Given the description of an element on the screen output the (x, y) to click on. 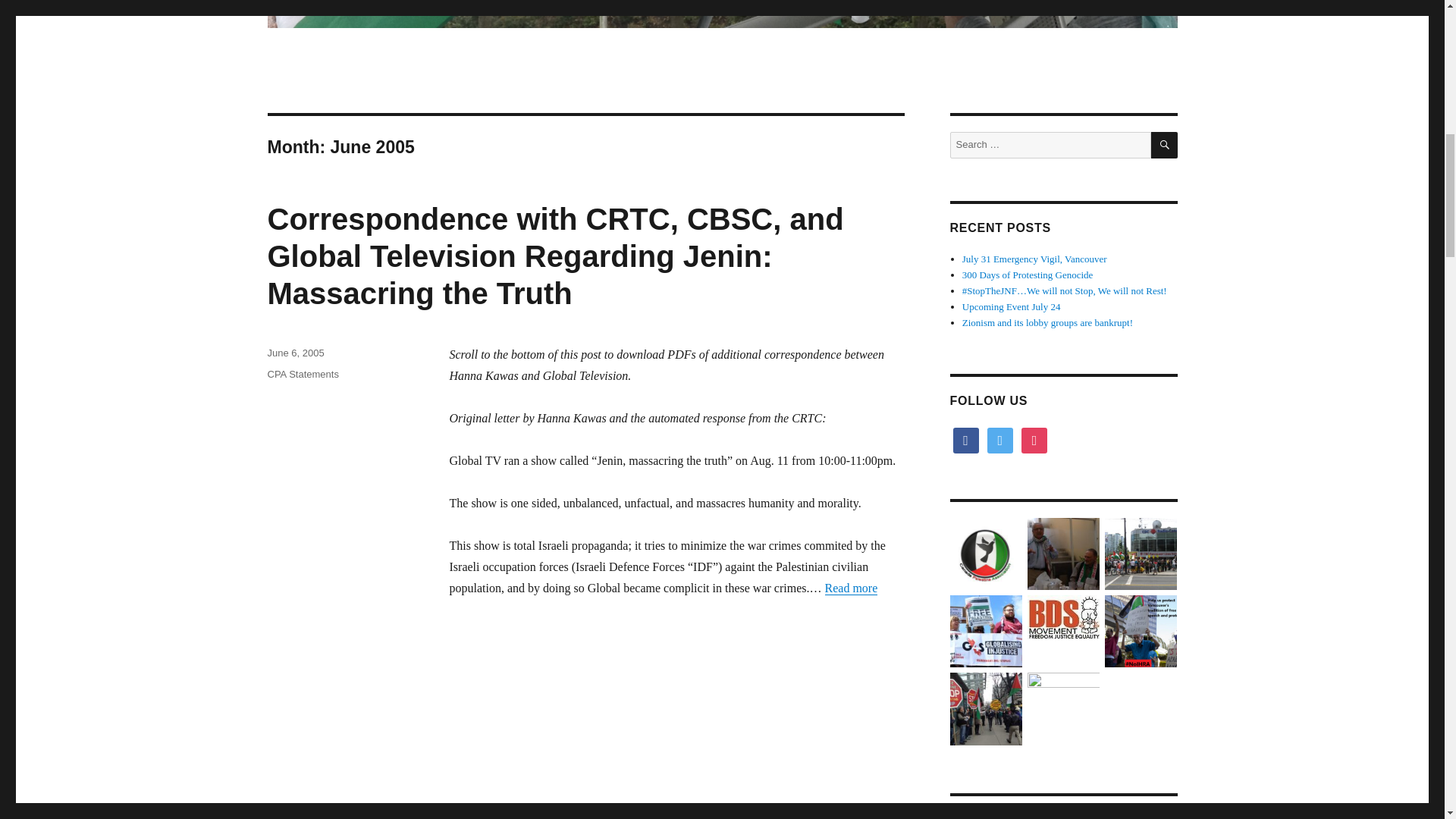
Read more (851, 587)
June 6, 2005 (294, 352)
twitter (1000, 439)
300 Days of Protesting Genocide (1027, 274)
CPA Statements (301, 374)
Zionism and its lobby groups are bankrupt! (1047, 322)
SEARCH (1164, 144)
July 31 Emergency Vigil, Vancouver (1034, 258)
facebook (965, 439)
Facebook (965, 439)
Default Label (1034, 439)
Upcoming Event July 24 (1011, 306)
Twitter (1000, 439)
